Given the description of an element on the screen output the (x, y) to click on. 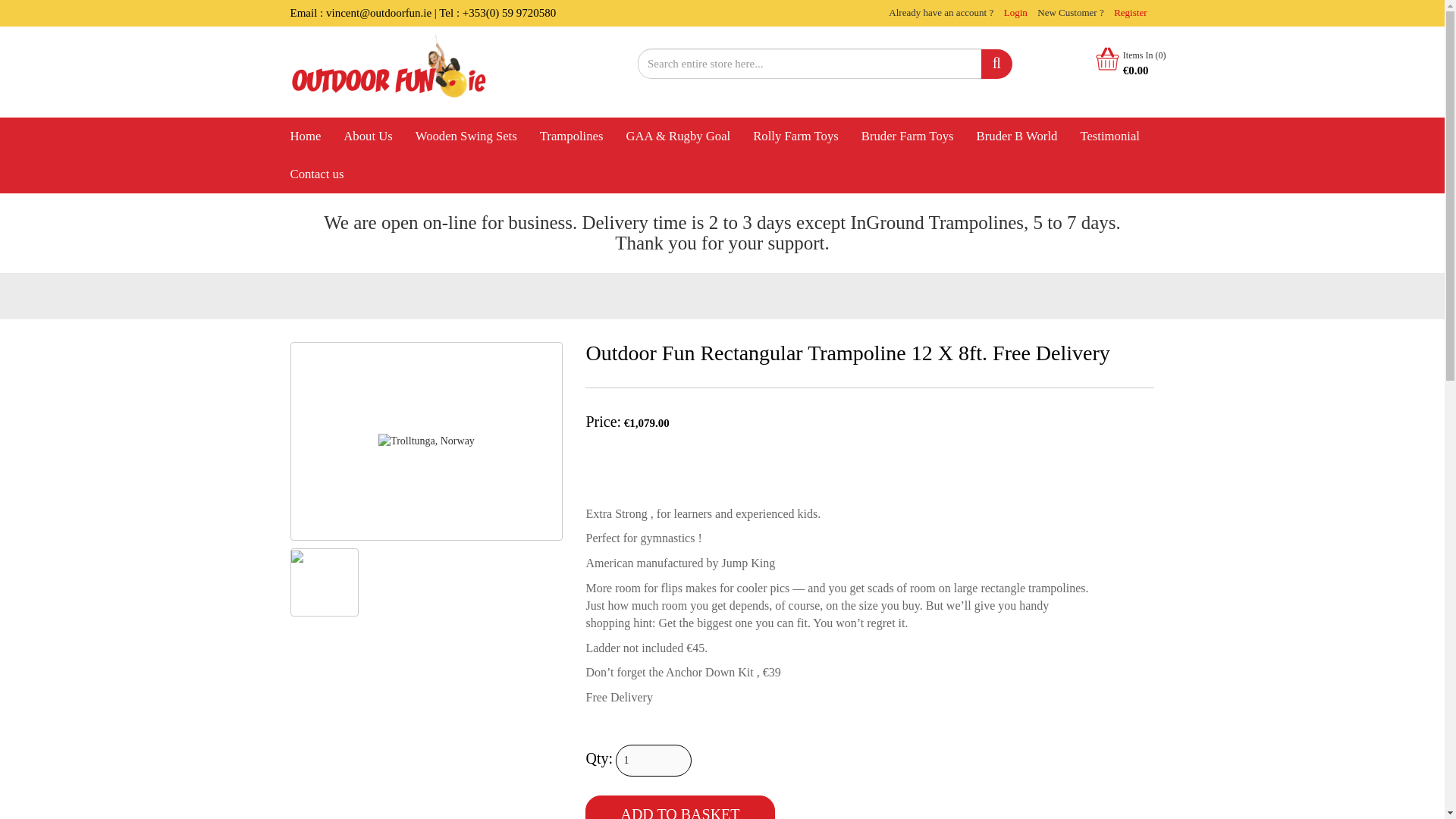
Register (1130, 12)
Outdoor Fun (306, 136)
Bruder Farm Toys (907, 136)
Trampolines (571, 136)
Wooden Swing Sets (466, 136)
Home (306, 136)
Contact us (317, 174)
Trampolines (571, 136)
Testimonial (1109, 136)
Wooden Swing Sets (466, 136)
